Given the description of an element on the screen output the (x, y) to click on. 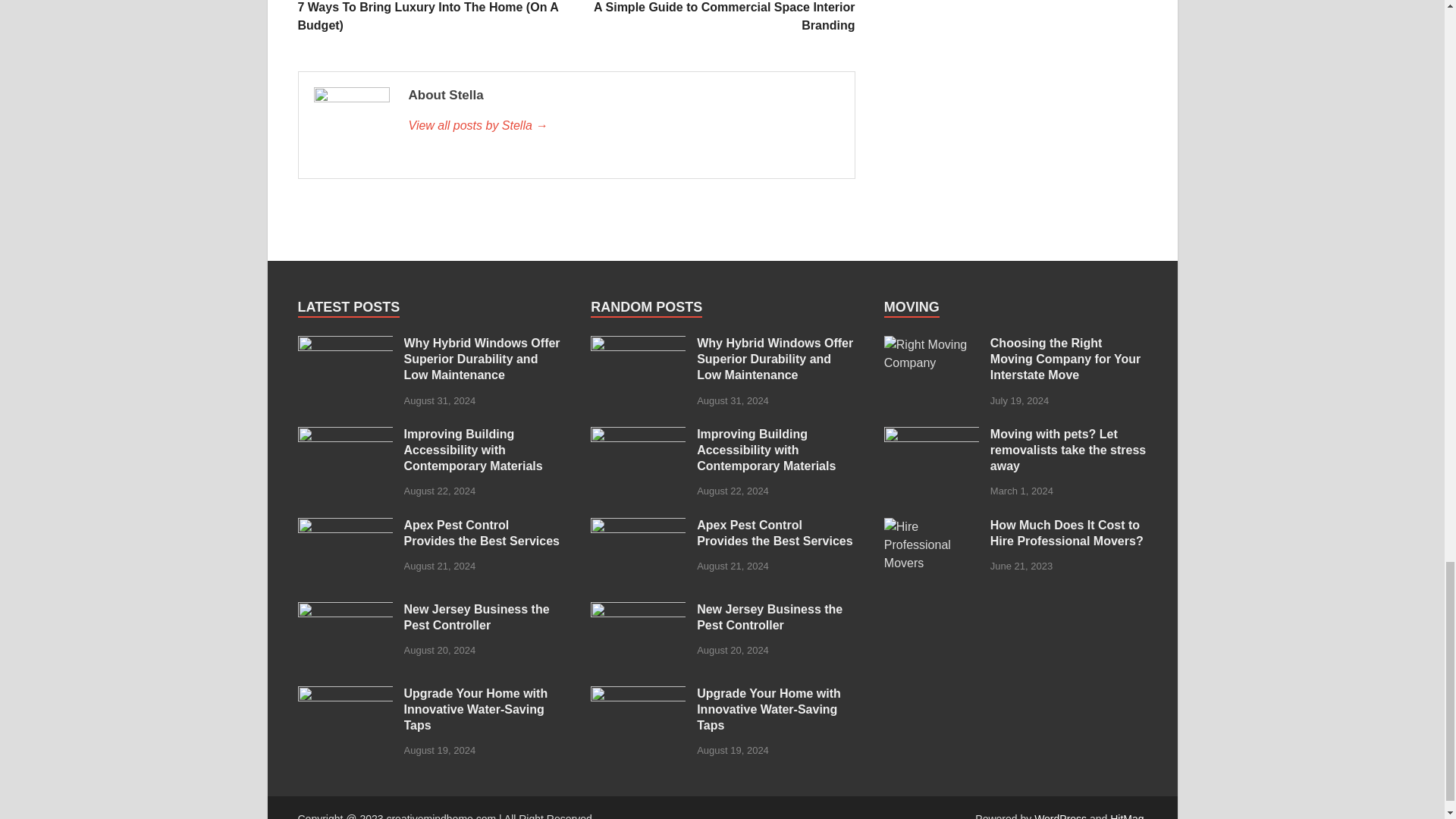
Improving Building Accessibility with Contemporary Materials (344, 435)
Stella (622, 126)
